Given the description of an element on the screen output the (x, y) to click on. 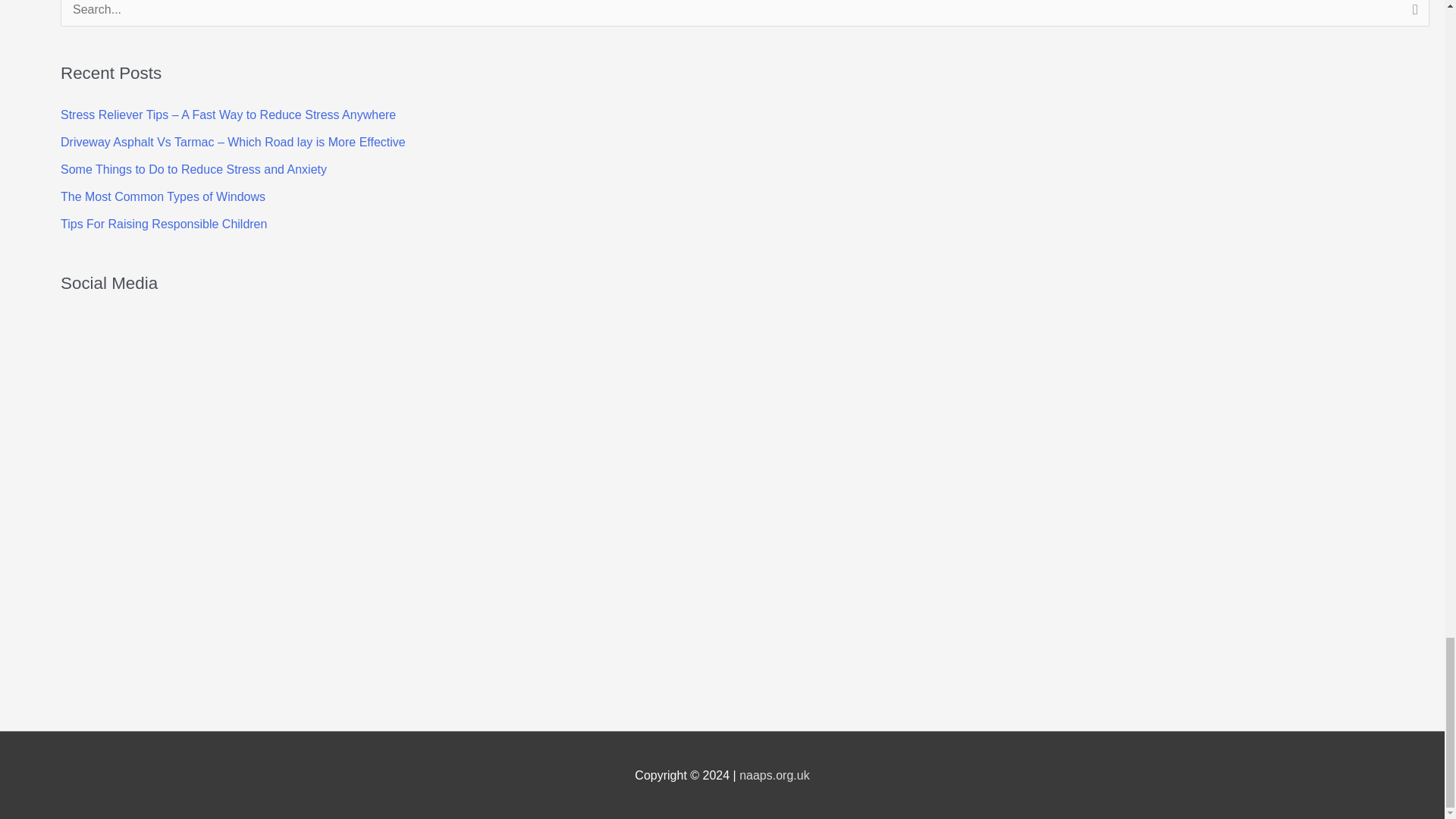
Some Things to Do to Reduce Stress and Anxiety (193, 169)
The Most Common Types of Windows (162, 196)
Search (1411, 18)
naaps.org.uk (774, 775)
Tips For Raising Responsible Children (163, 223)
Search (1411, 18)
Search (1411, 18)
